Given the description of an element on the screen output the (x, y) to click on. 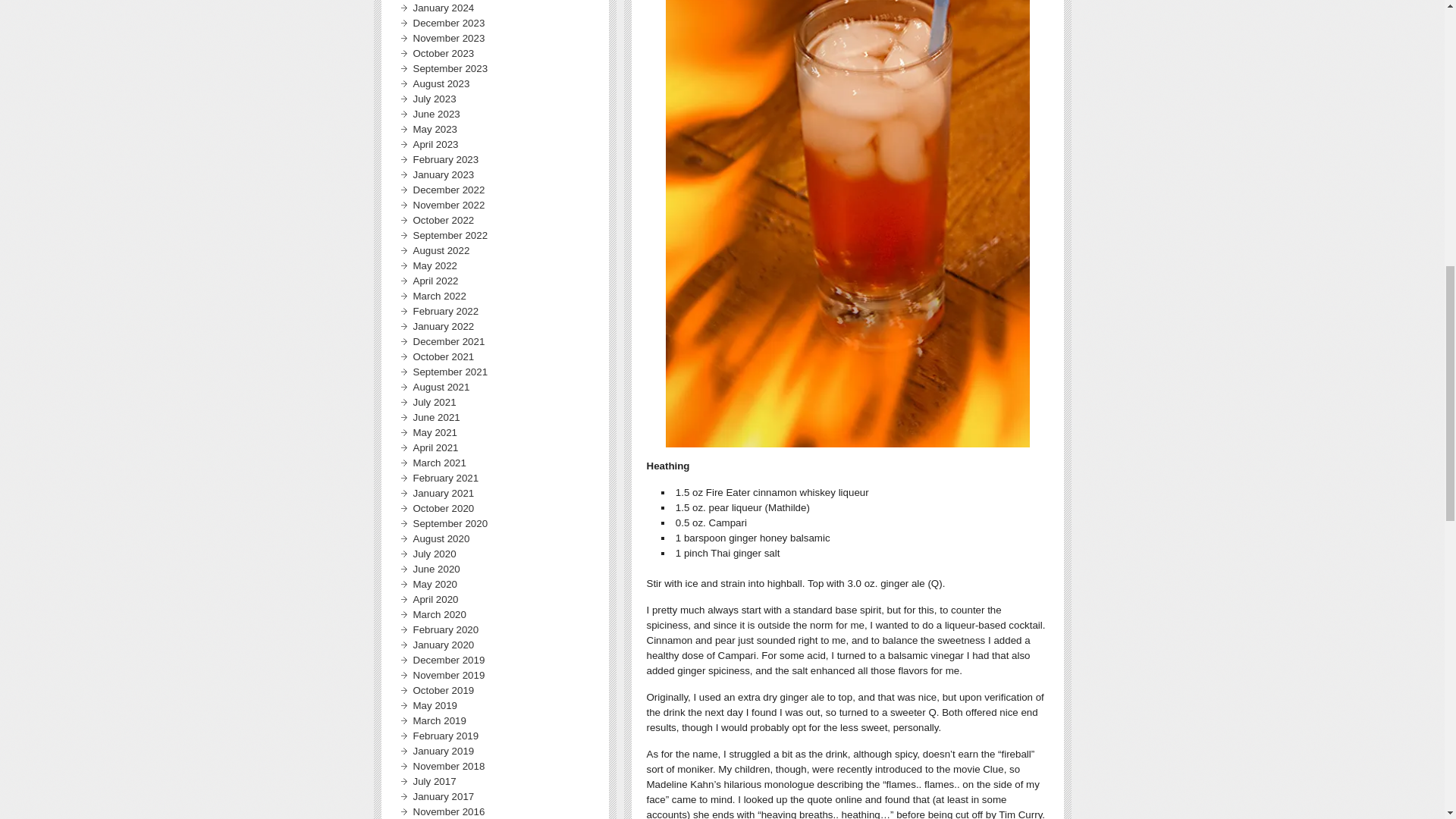
December 2023 (448, 22)
May 2023 (434, 129)
January 2023 (443, 174)
October 2022 (443, 220)
April 2022 (435, 280)
April 2023 (435, 143)
August 2023 (440, 83)
July 2023 (433, 98)
May 2022 (434, 265)
November 2023 (448, 38)
